Given the description of an element on the screen output the (x, y) to click on. 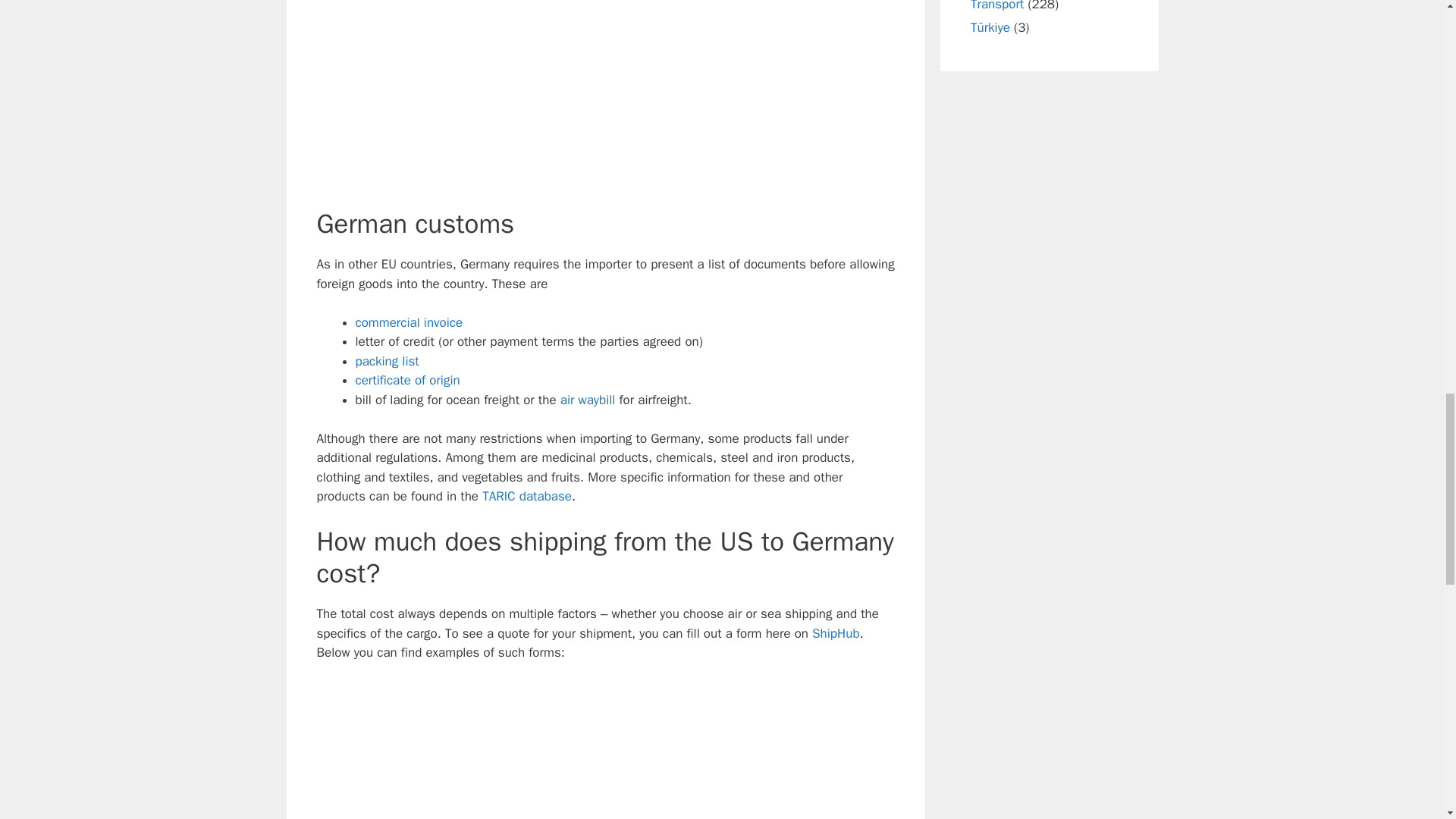
certificate of origin (407, 380)
ShipHub (835, 633)
TARIC database (526, 496)
commercial invoice (409, 322)
air waybill (587, 399)
packing list (387, 360)
